Given the description of an element on the screen output the (x, y) to click on. 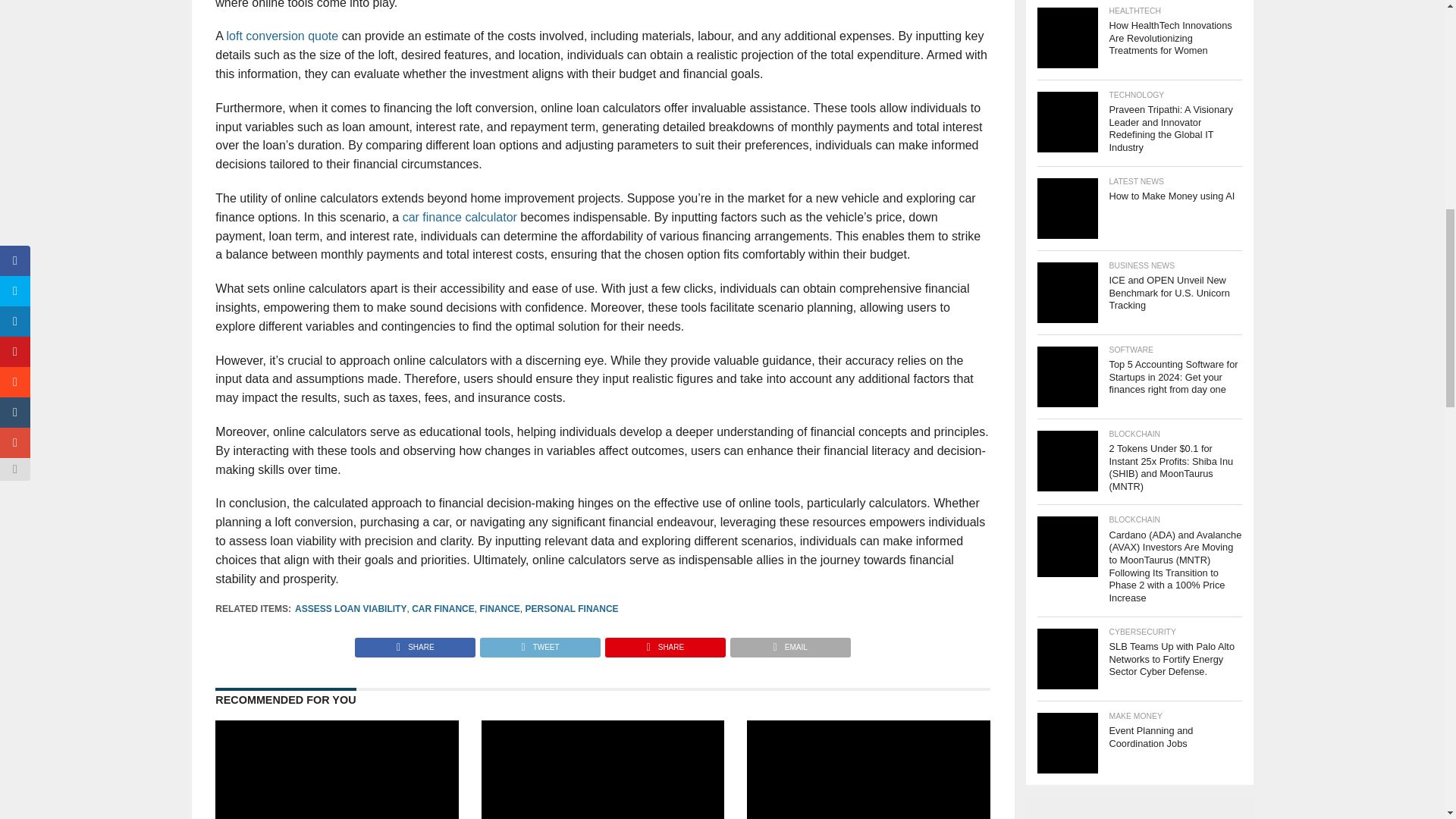
Share on Facebook (415, 643)
Pin This Post (664, 643)
Tweet This Post (539, 643)
